Given the description of an element on the screen output the (x, y) to click on. 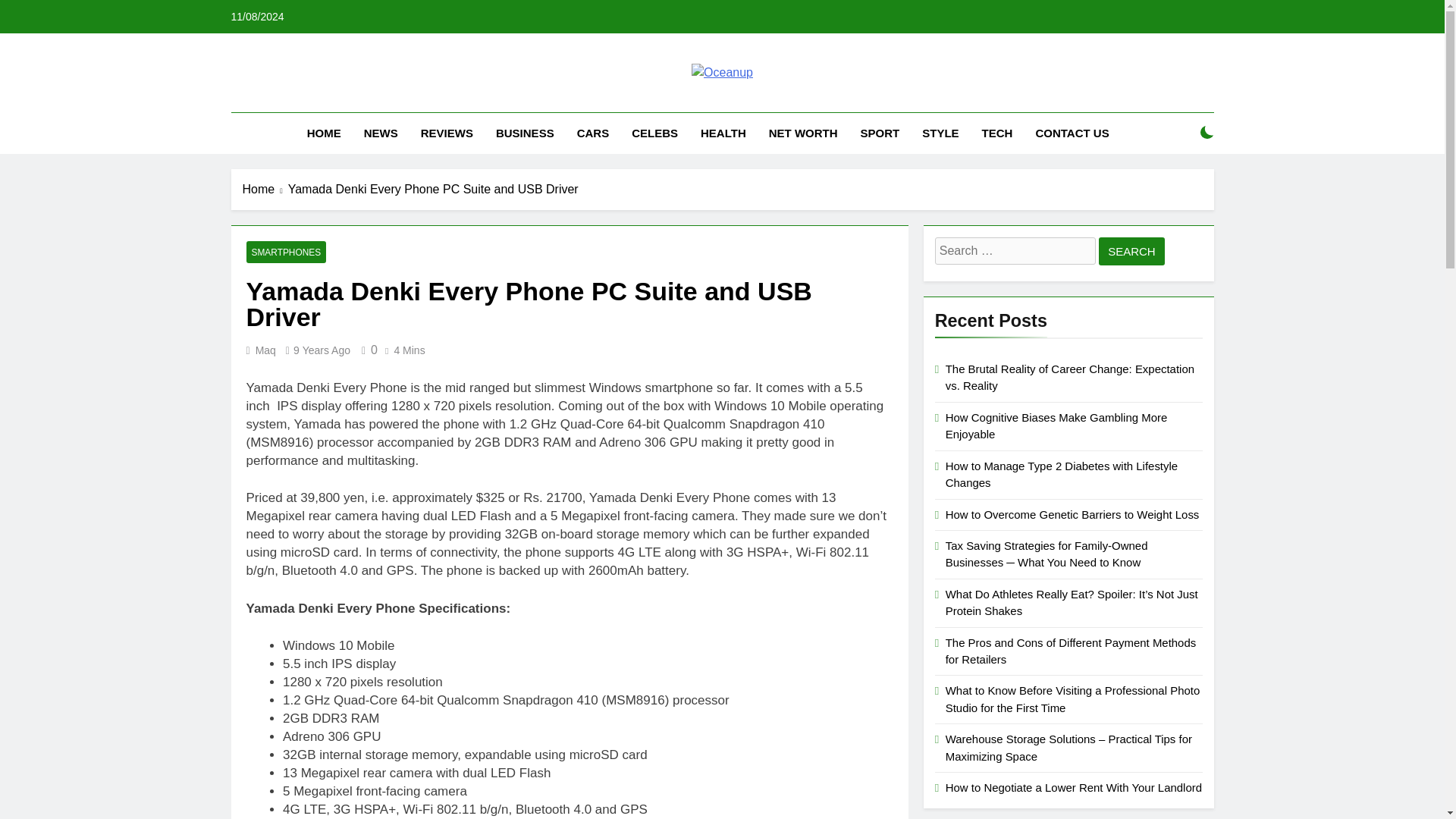
STYLE (940, 133)
NET WORTH (802, 133)
CELEBS (654, 133)
CONTACT US (1071, 133)
BUSINESS (525, 133)
Home (265, 189)
Maq (266, 349)
Search (1131, 251)
REVIEWS (446, 133)
9 Years Ago (322, 349)
